Given the description of an element on the screen output the (x, y) to click on. 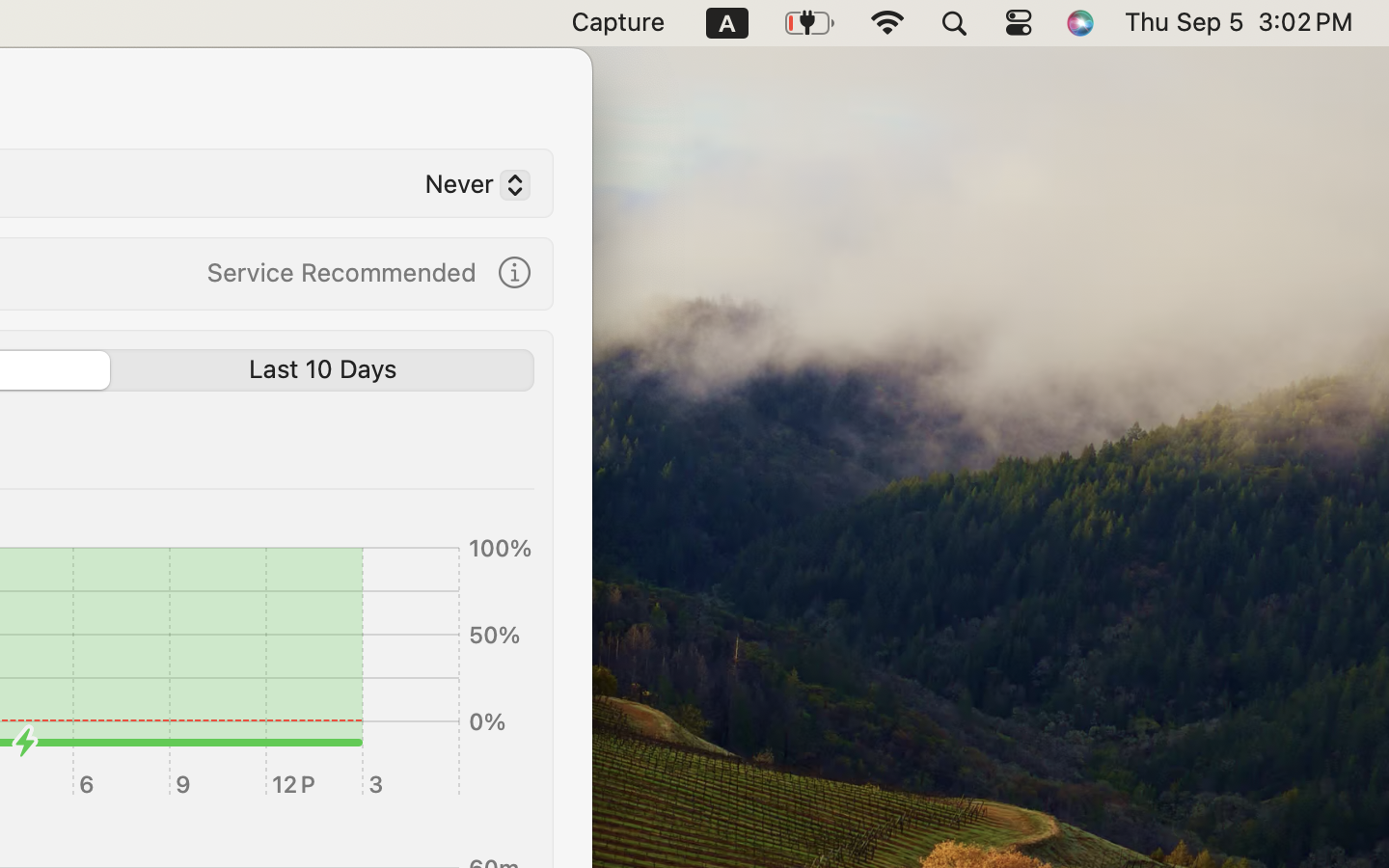
Service Recommended Element type: AXStaticText (341, 271)
Never Element type: AXPopUpButton (469, 187)
